Given the description of an element on the screen output the (x, y) to click on. 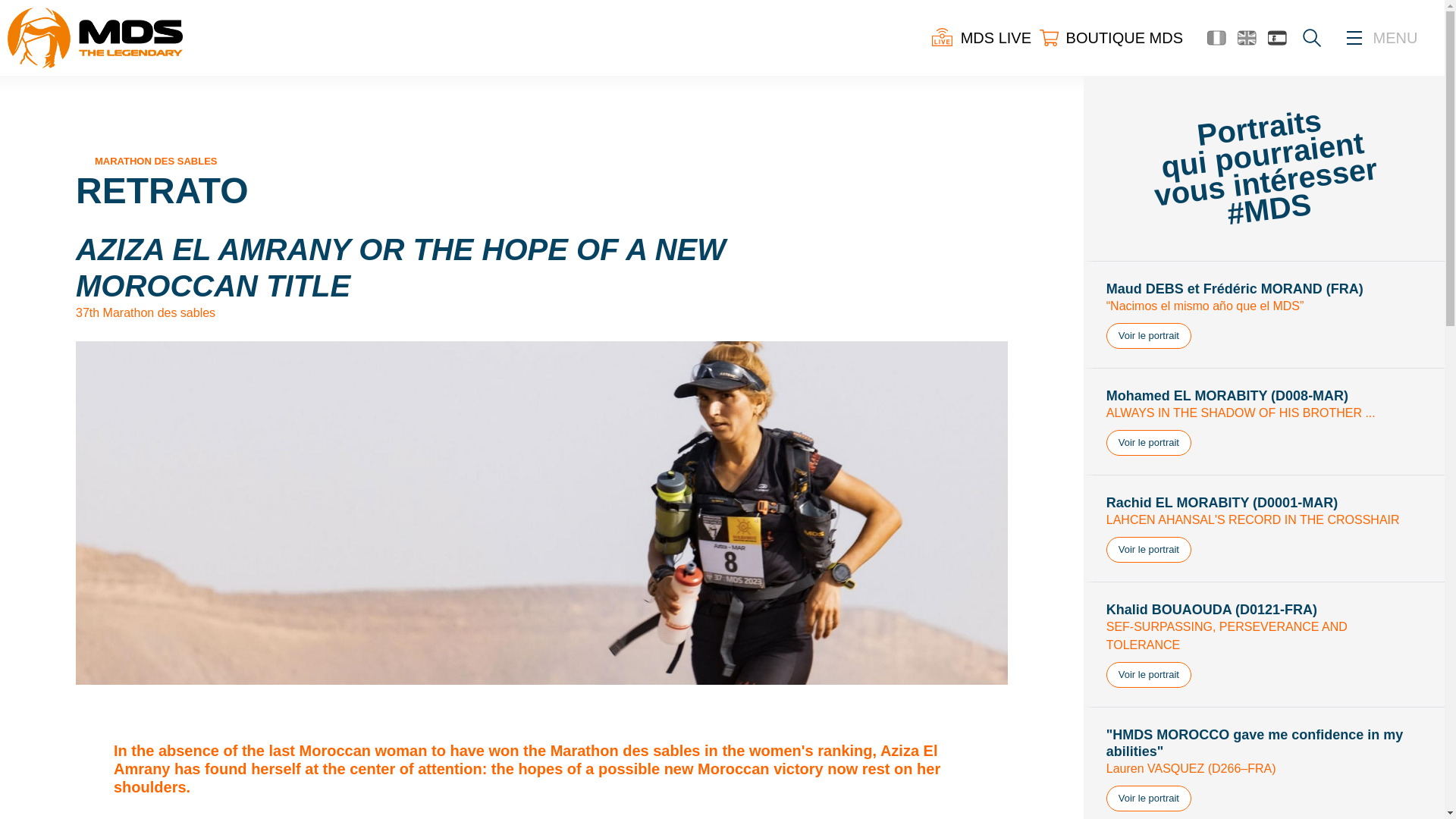
MDS LIVE (980, 37)
RETRATO (161, 190)
BOUTIQUE MDS (1110, 37)
MENU (1394, 38)
